Given the description of an element on the screen output the (x, y) to click on. 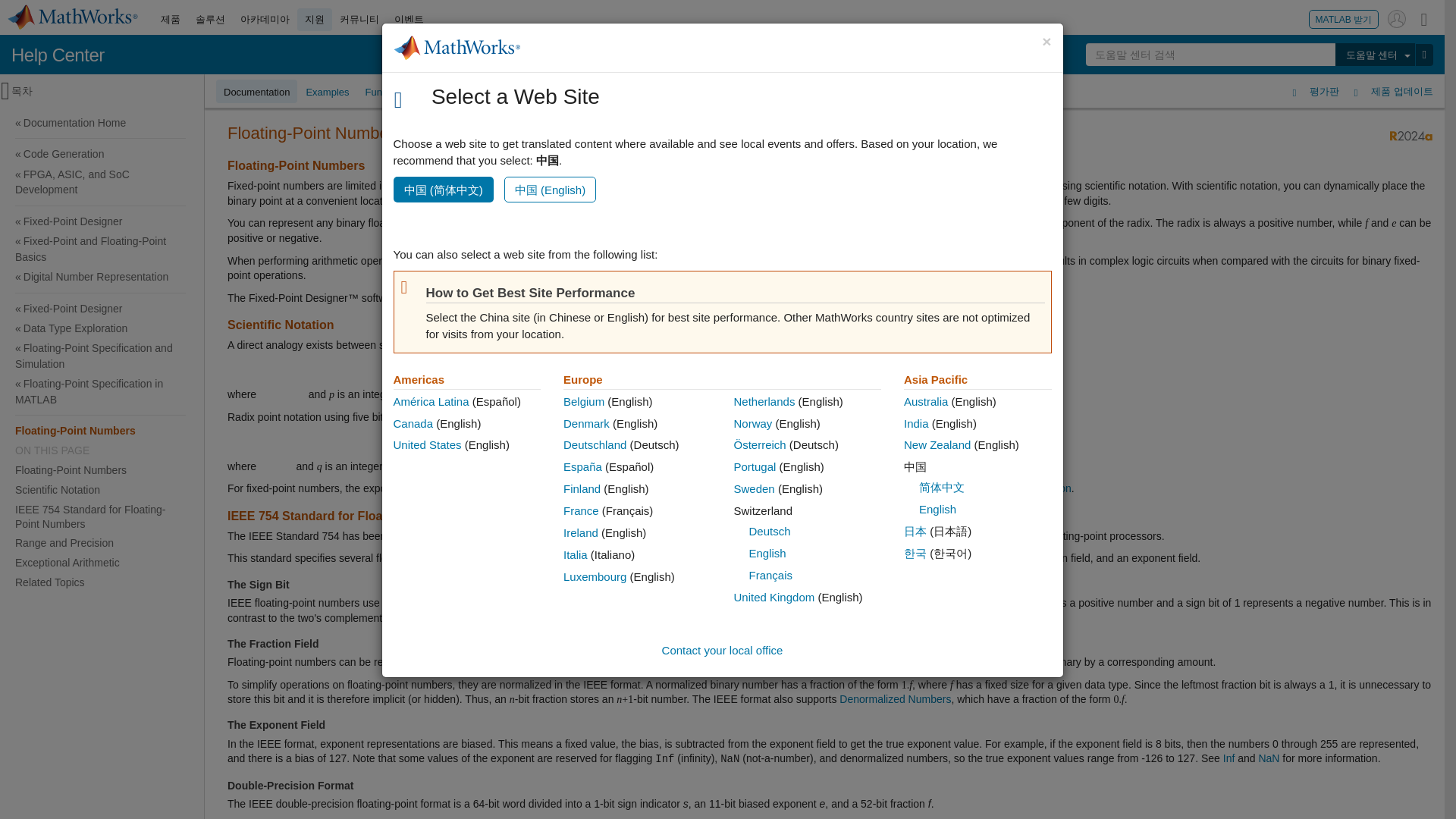
Floating-Point Numbers (100, 430)
Matrix Menu (1423, 18)
ON THIS PAGE (100, 450)
